Given the description of an element on the screen output the (x, y) to click on. 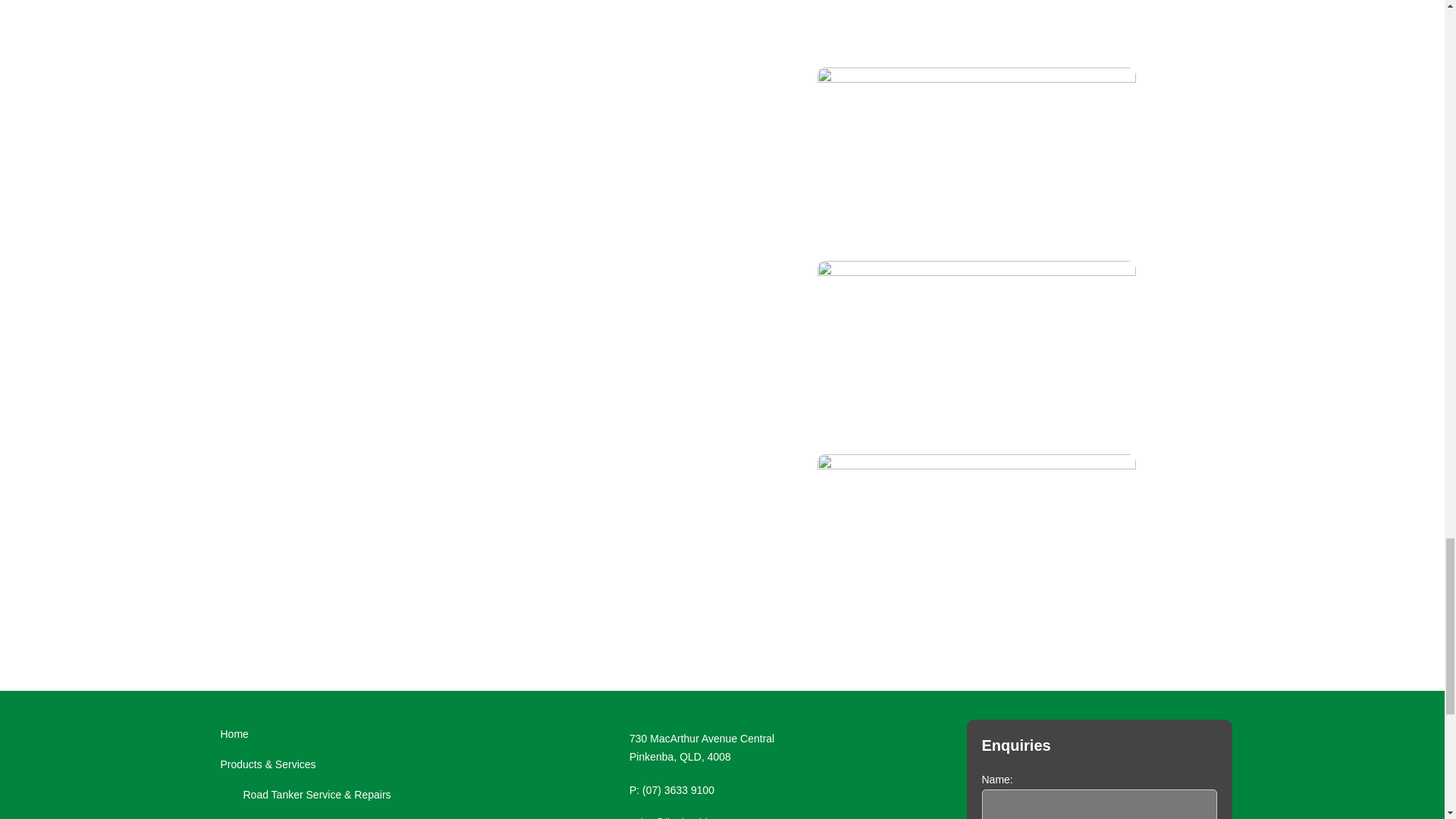
Home (344, 734)
